Given the description of an element on the screen output the (x, y) to click on. 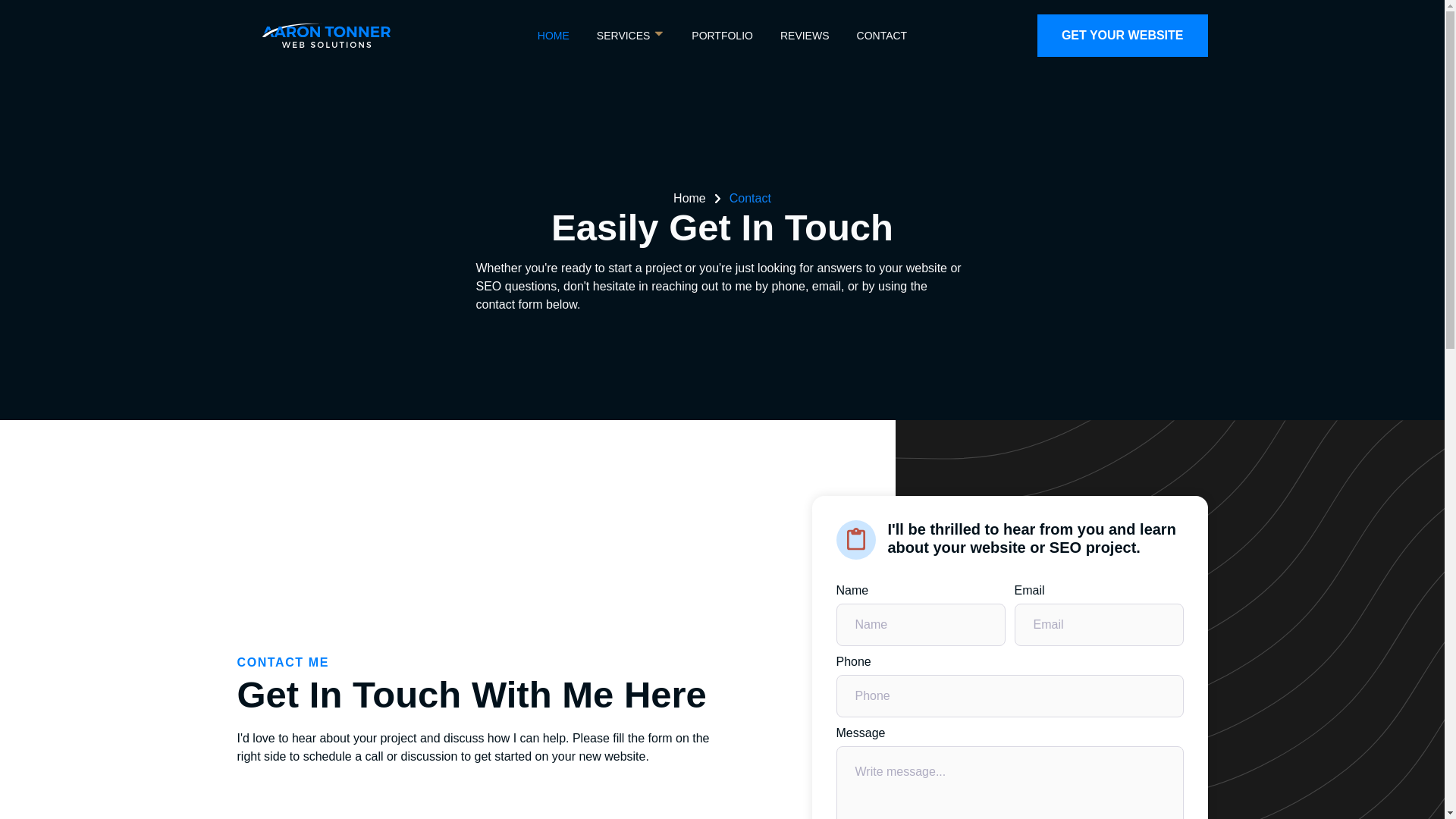
HOME (553, 35)
REVIEWS (804, 35)
Contact (750, 197)
CONTACT (882, 35)
PORTFOLIO (721, 35)
GET YOUR WEBSITE (1122, 34)
Home (700, 197)
